Given the description of an element on the screen output the (x, y) to click on. 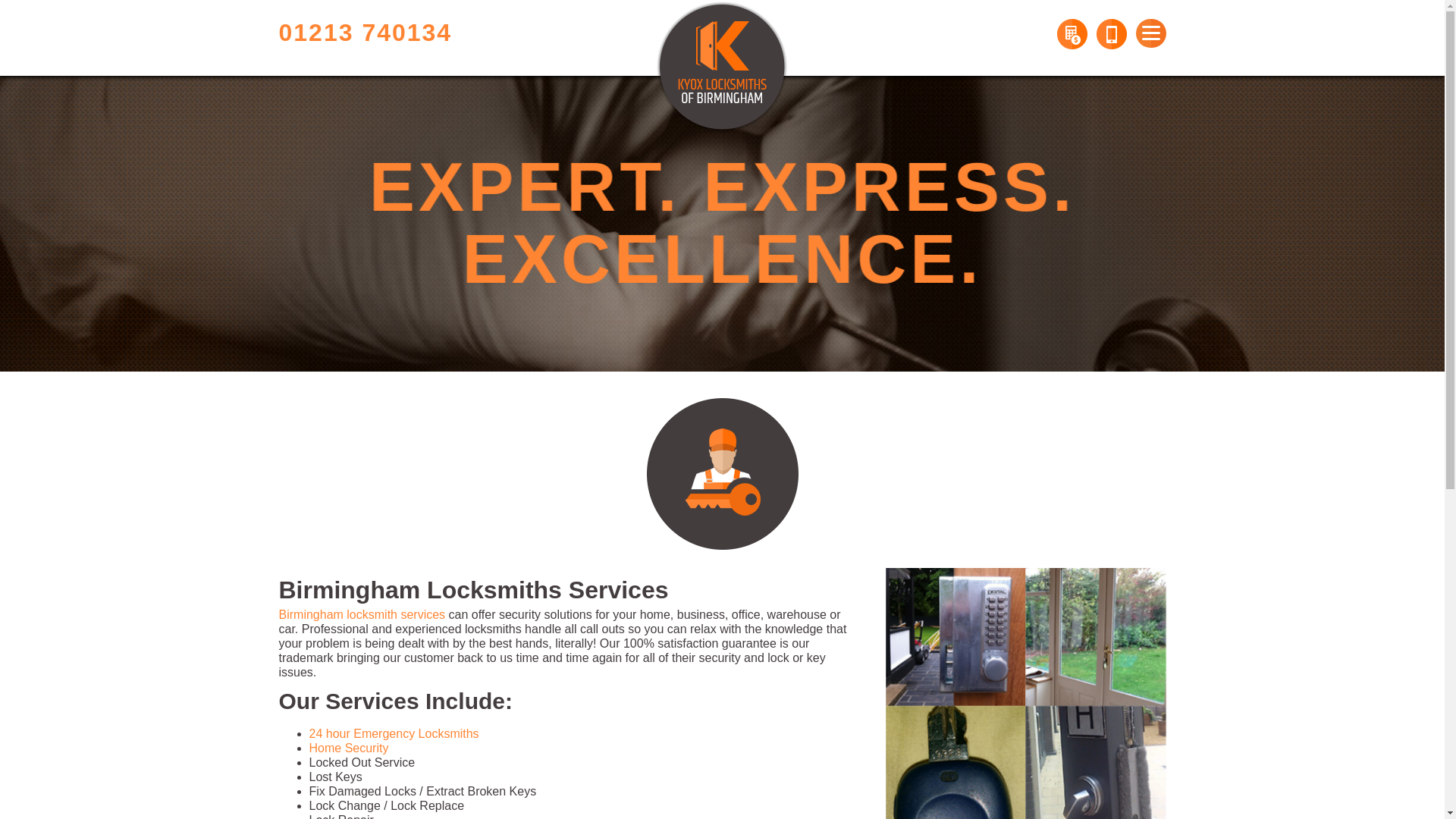
Kyox Locksmiths of Birmingham (722, 67)
Birmingham locksmith services (362, 614)
Click To Call (1111, 33)
Get A Free Estimate (1072, 33)
01213 740134 (365, 31)
24 hour Emergency Locksmiths (393, 733)
Locksmith Services (722, 473)
Home Security (348, 748)
